Given the description of an element on the screen output the (x, y) to click on. 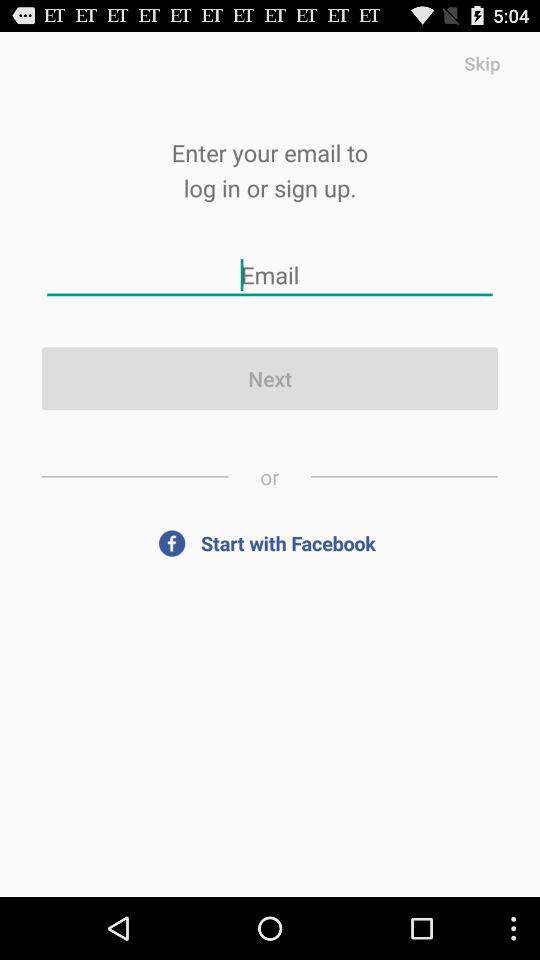
open the start with facebook icon (269, 542)
